Given the description of an element on the screen output the (x, y) to click on. 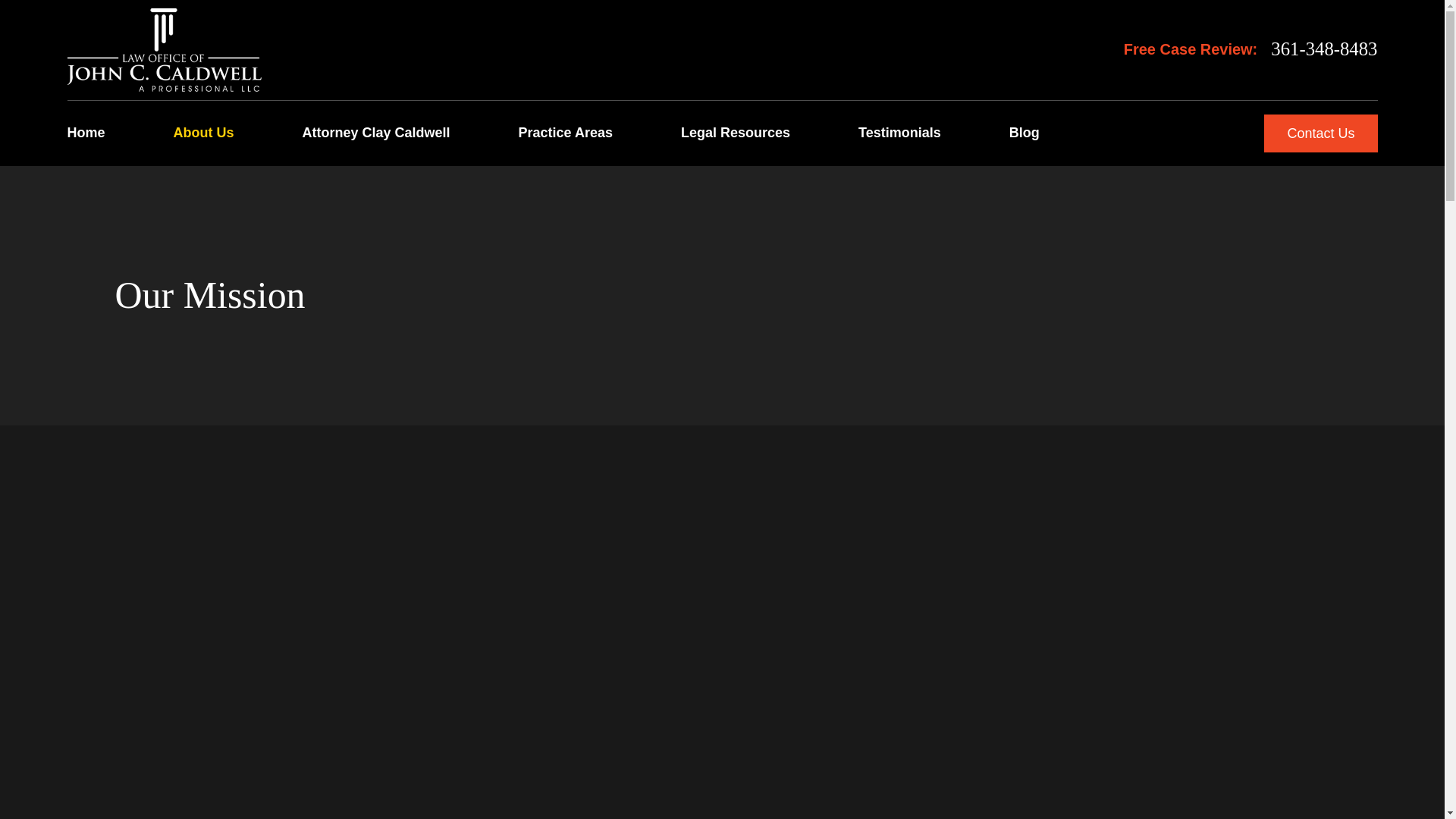
Practice Areas (565, 133)
Legal Resources (735, 133)
About Us (203, 133)
Home (85, 133)
Home (163, 49)
361-348-8483 (1324, 49)
Testimonials (899, 133)
Attorney Clay Caldwell (375, 133)
